Given the description of an element on the screen output the (x, y) to click on. 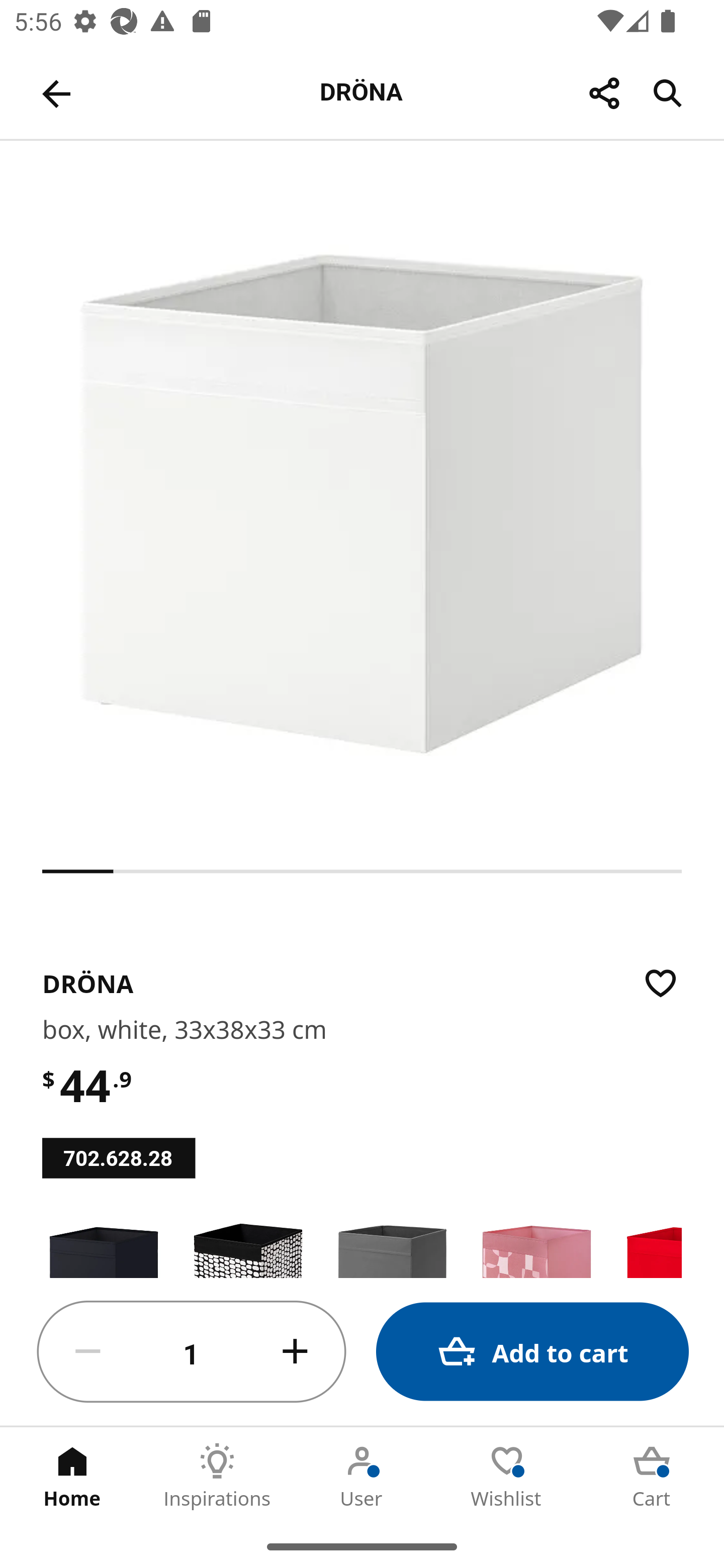
Add to cart (531, 1352)
1 (191, 1352)
Home
Tab 1 of 5 (72, 1476)
Inspirations
Tab 2 of 5 (216, 1476)
User
Tab 3 of 5 (361, 1476)
Wishlist
Tab 4 of 5 (506, 1476)
Cart
Tab 5 of 5 (651, 1476)
